Given the description of an element on the screen output the (x, y) to click on. 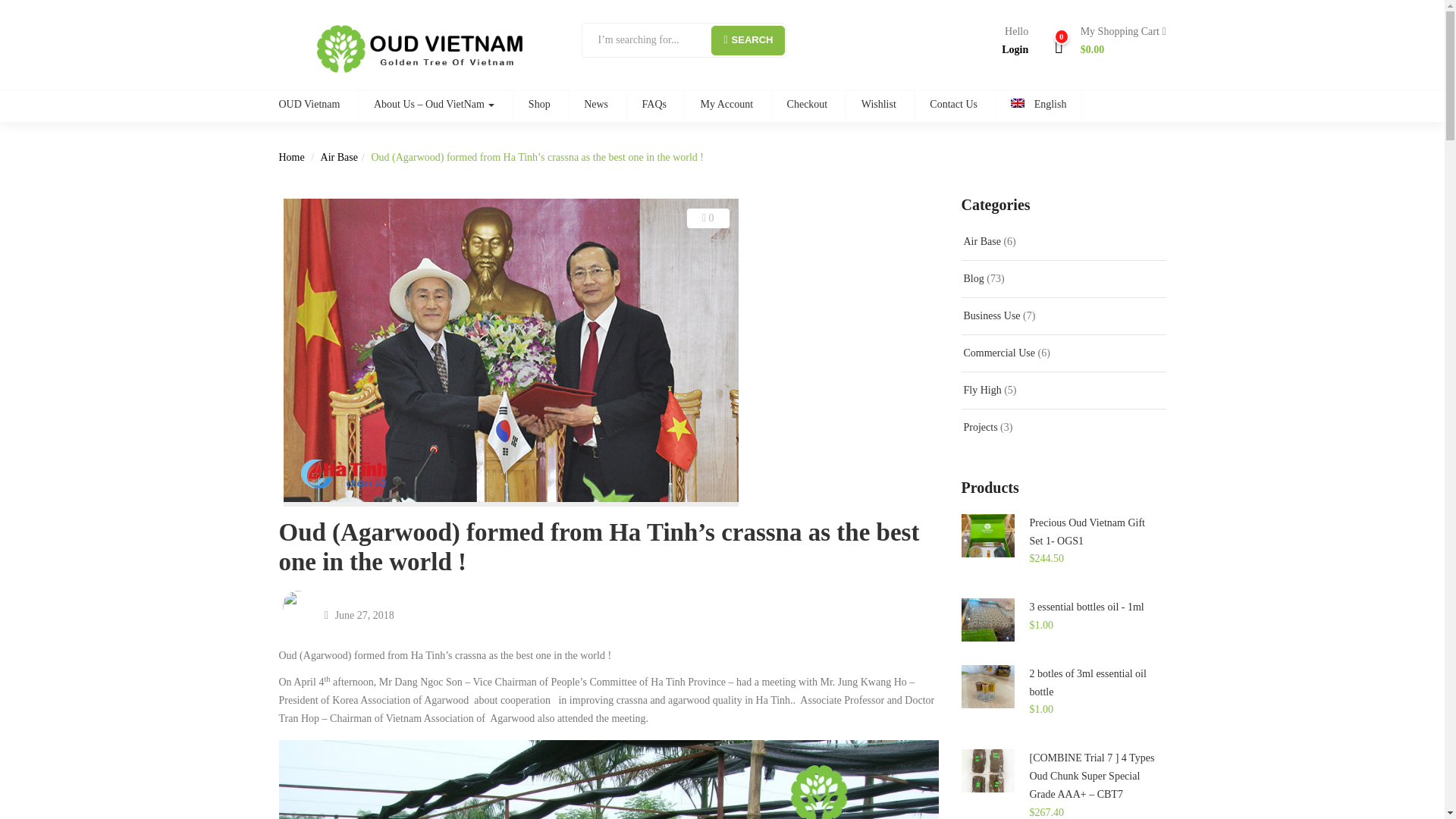
View your shopping cart (1117, 40)
English (1037, 106)
Login (1014, 49)
